Given the description of an element on the screen output the (x, y) to click on. 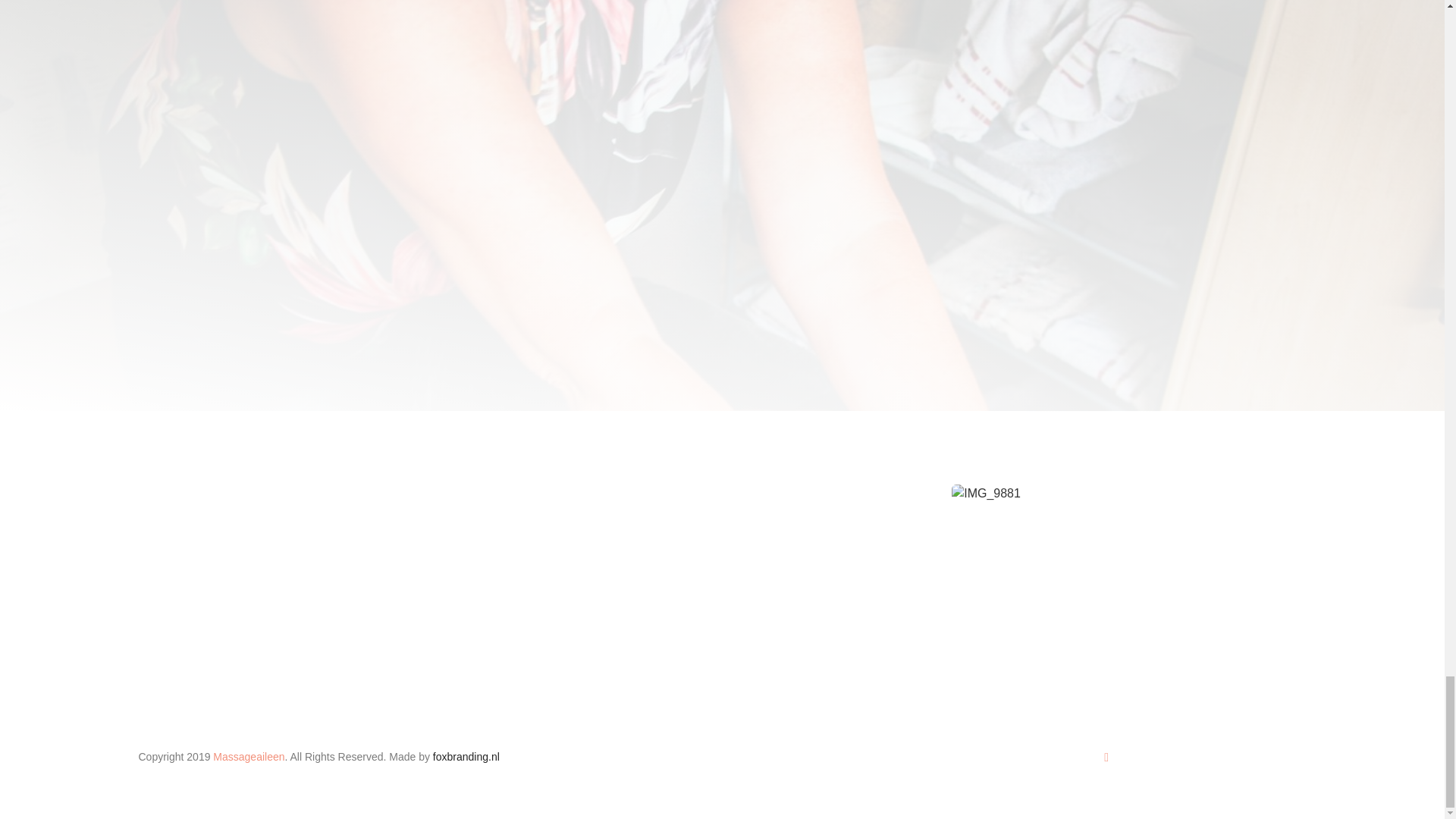
Massageaileen (247, 756)
foxbranding.nl (465, 756)
